Given the description of an element on the screen output the (x, y) to click on. 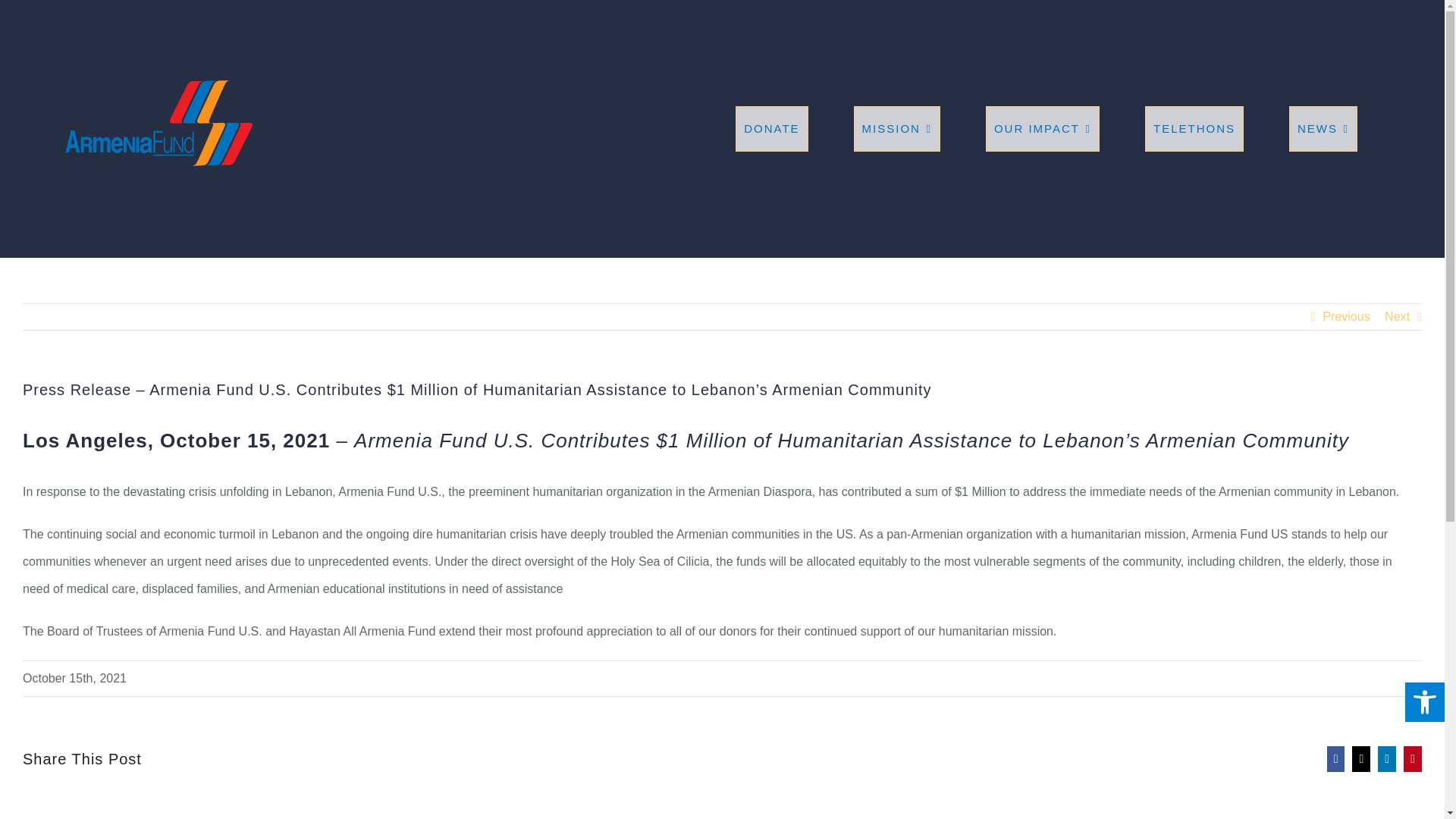
Donate to ArmeniaFund (771, 128)
NEWS (1322, 128)
MISSION (896, 128)
Previous (1346, 316)
Accessibility Tools (1424, 702)
TELETHONS (1193, 128)
Next (1396, 316)
OUR IMPACT (1042, 128)
DONATE (771, 128)
